Given the description of an element on the screen output the (x, y) to click on. 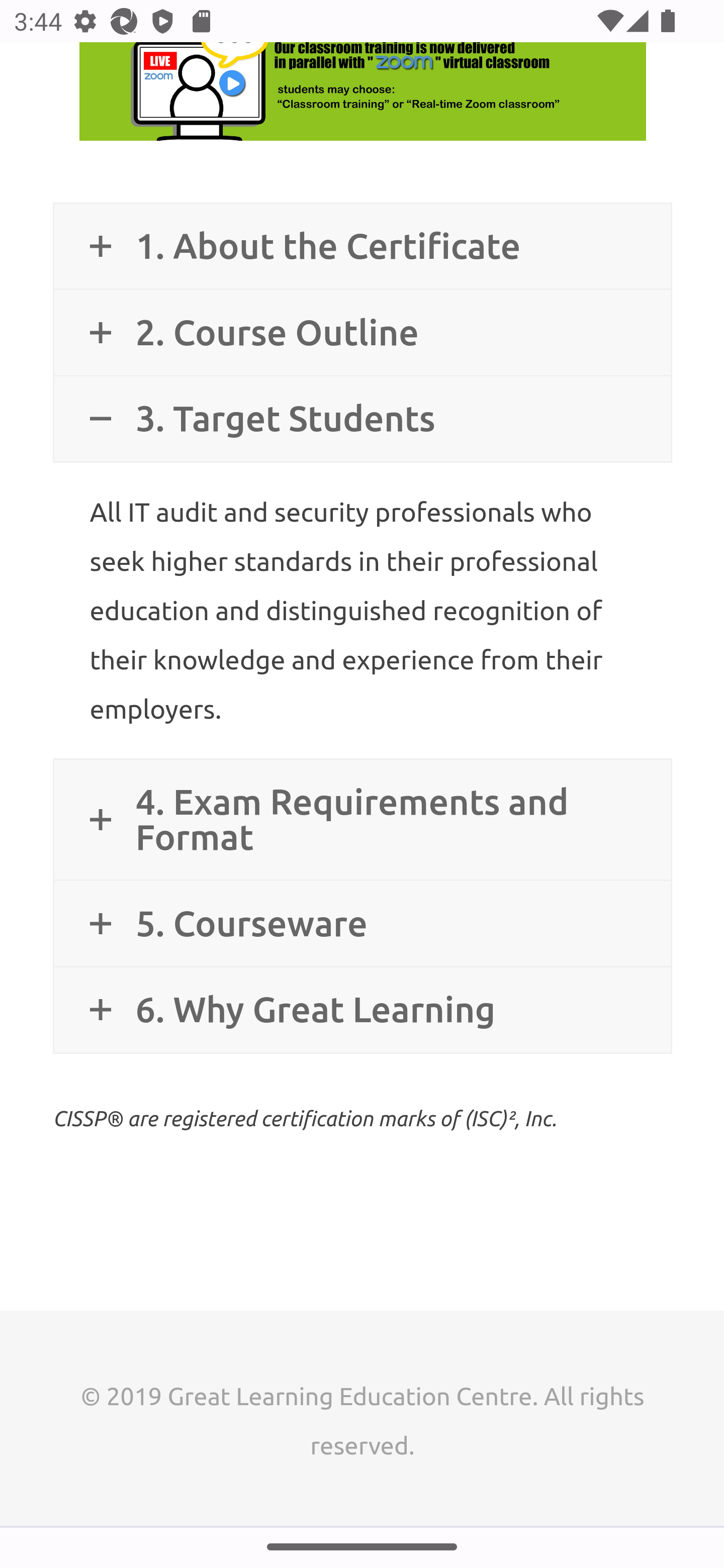
5. Courseware 5. Courseware 5. Courseware (361, 924)
